Given the description of an element on the screen output the (x, y) to click on. 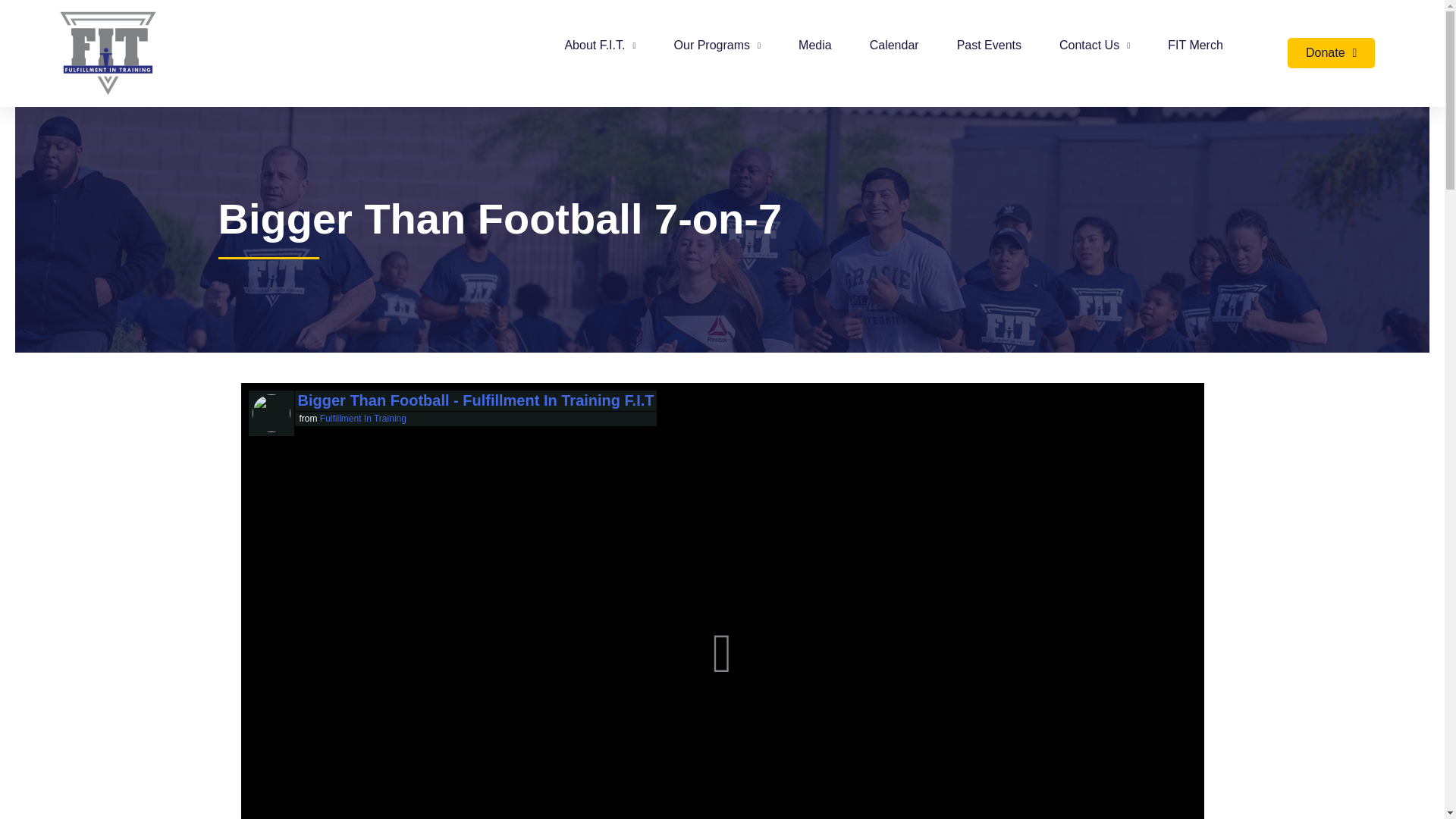
Our Programs (717, 45)
Past Events (989, 45)
About F.I.T. (599, 45)
Donate (1330, 52)
Media (814, 45)
Contact Us (1094, 45)
FIT Merch (1195, 45)
Calendar (893, 45)
